Given the description of an element on the screen output the (x, y) to click on. 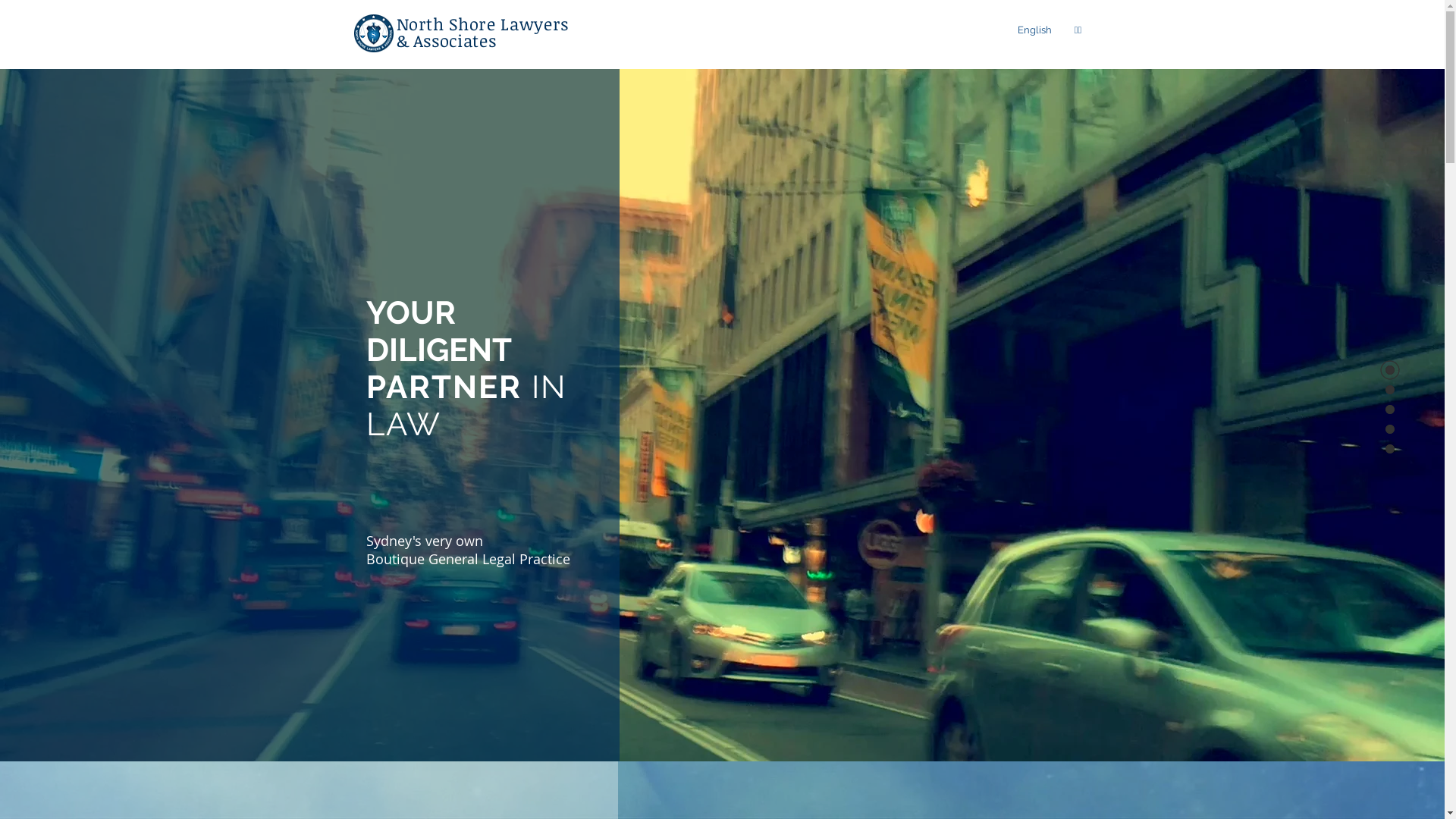
English Element type: text (1033, 29)
North Element type: text (419, 23)
